Given the description of an element on the screen output the (x, y) to click on. 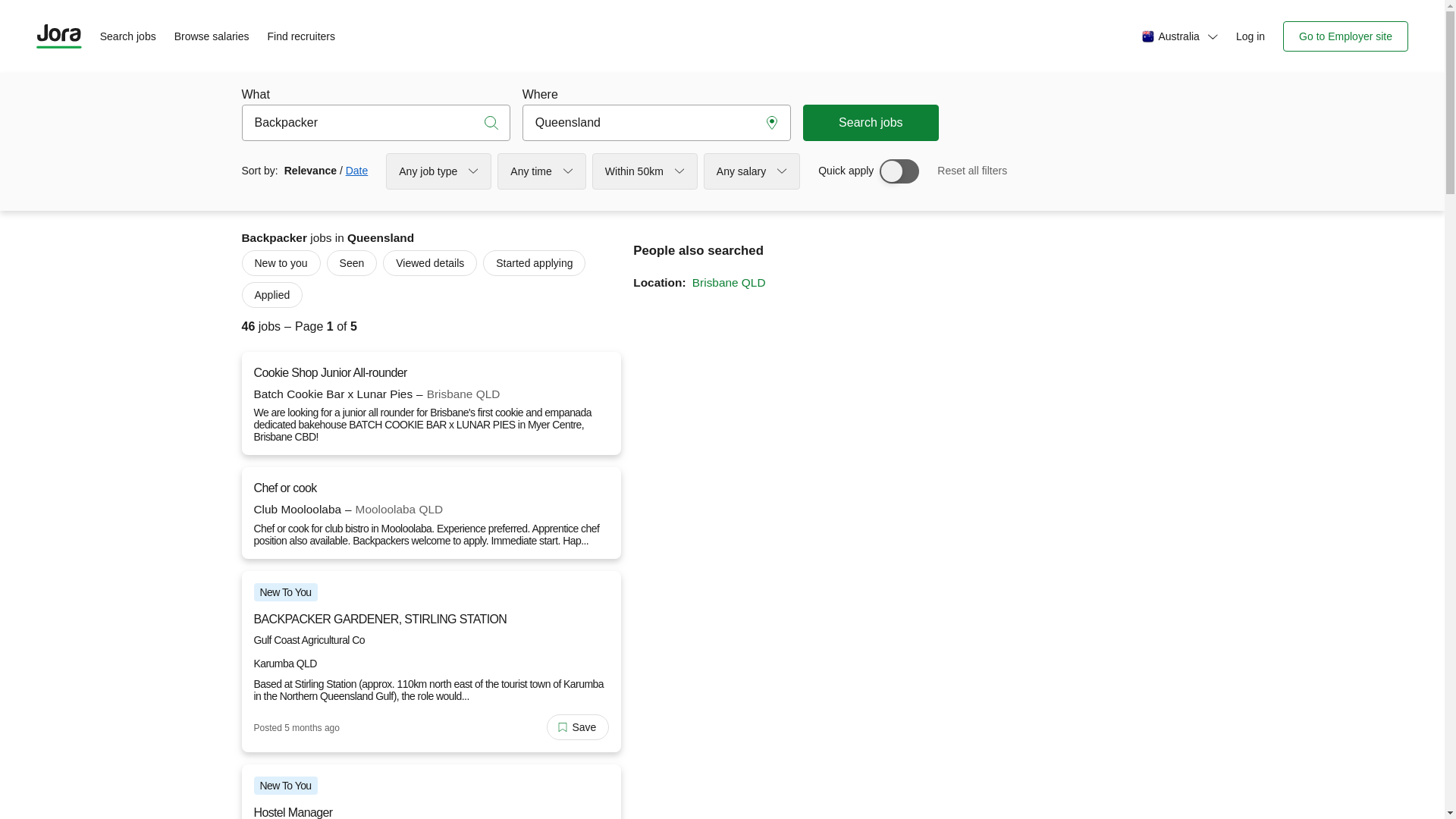
Seen Element type: text (351, 263)
BACKPACKER GARDENER, STIRLING STATION Element type: text (427, 619)
Browse salaries Element type: text (211, 36)
Brisbane QLD Element type: text (728, 282)
Chef or cook Element type: text (284, 487)
Jora Element type: hover (58, 36)
Within 50km Element type: text (644, 171)
Cookie Shop Junior All-rounder Element type: text (329, 372)
Applied Element type: text (271, 294)
Log in Element type: text (1250, 36)
Go to Employer site Element type: text (1345, 36)
Australia Element type: text (1177, 36)
Search jobs Element type: text (870, 122)
Date Element type: text (356, 170)
Any time Element type: text (541, 171)
Viewed details Element type: text (429, 263)
New to you Element type: text (280, 263)
Any job type Element type: text (438, 171)
Save Element type: text (577, 727)
Karumba QLD Element type: text (284, 662)
Find recruiters Element type: text (301, 36)
Started applying Element type: text (534, 263)
Any salary Element type: text (751, 171)
Search jobs Element type: text (128, 36)
Reset all filters Element type: text (972, 170)
